Given the description of an element on the screen output the (x, y) to click on. 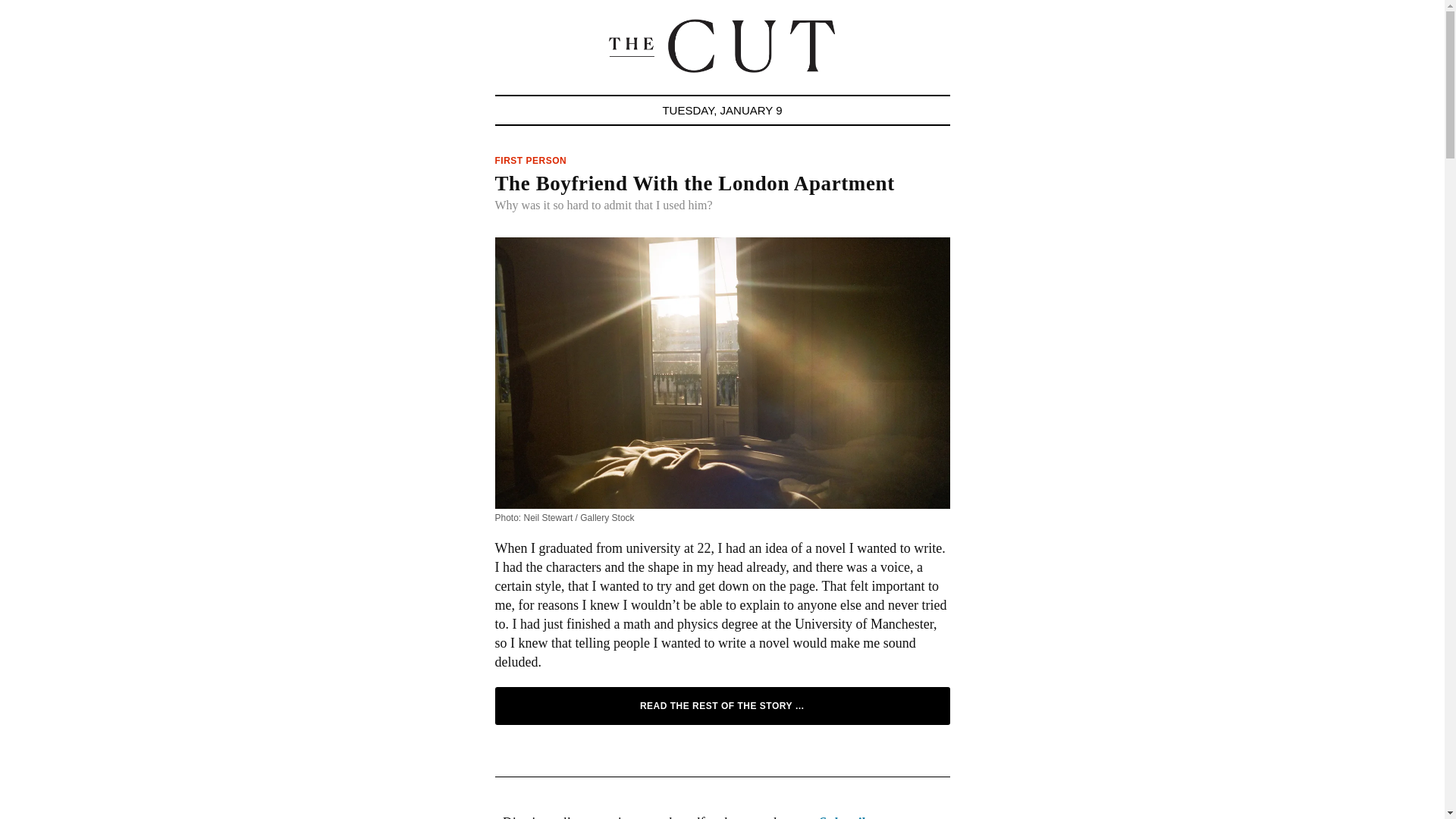
Subscribe now (859, 816)
The Boyfriend With the London Apartment (694, 182)
